Given the description of an element on the screen output the (x, y) to click on. 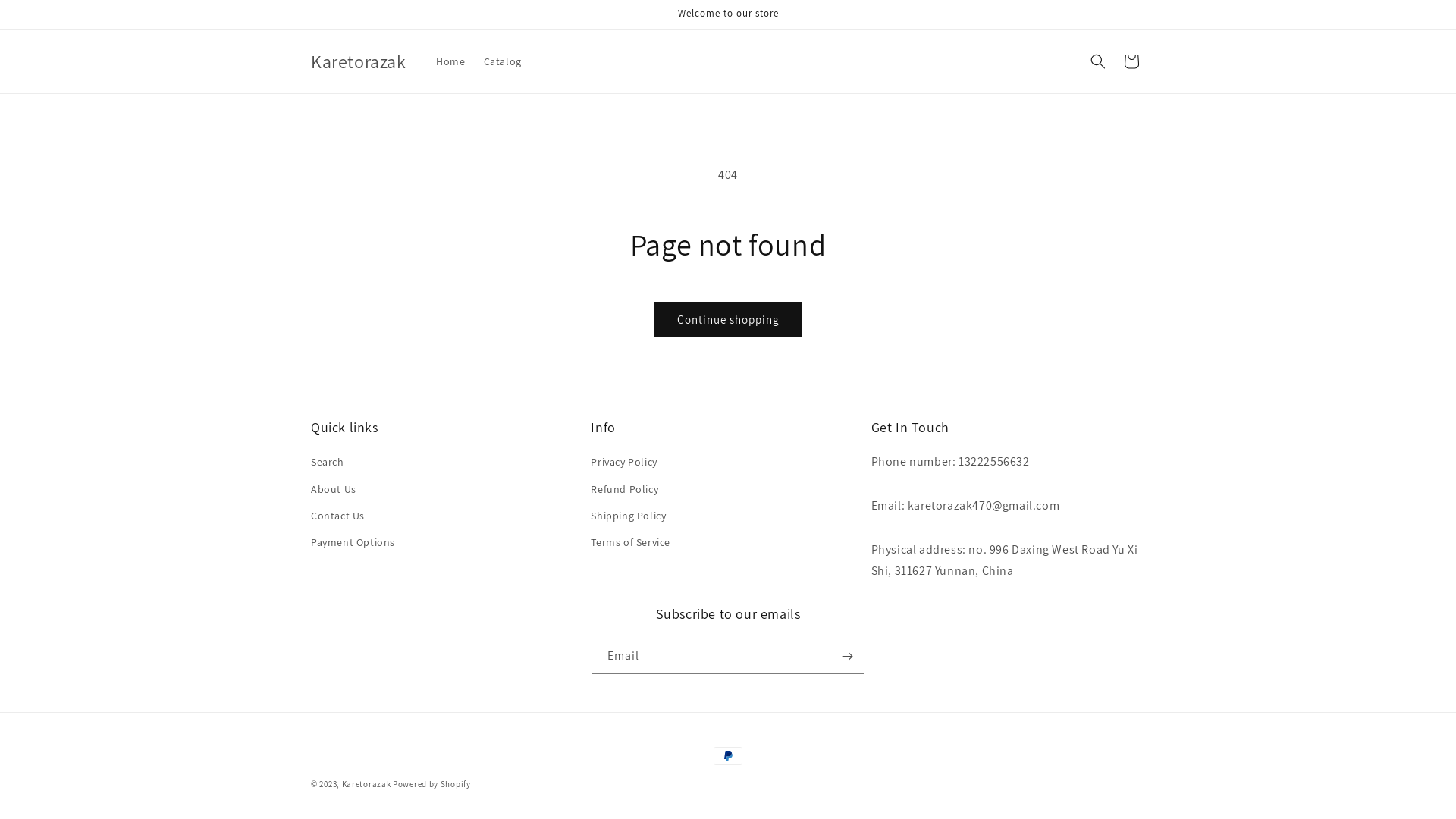
Contact Us Element type: text (337, 515)
Payment Options Element type: text (352, 542)
Shipping Policy Element type: text (627, 515)
About Us Element type: text (333, 489)
Powered by Shopify Element type: text (431, 783)
Search Element type: text (327, 463)
Cart Element type: text (1131, 61)
Home Element type: text (449, 61)
Catalog Element type: text (502, 61)
Terms of Service Element type: text (630, 542)
Karetorazak Element type: text (357, 61)
Karetorazak Element type: text (366, 783)
Refund Policy Element type: text (624, 489)
Continue shopping Element type: text (727, 319)
Privacy Policy Element type: text (623, 463)
